Given the description of an element on the screen output the (x, y) to click on. 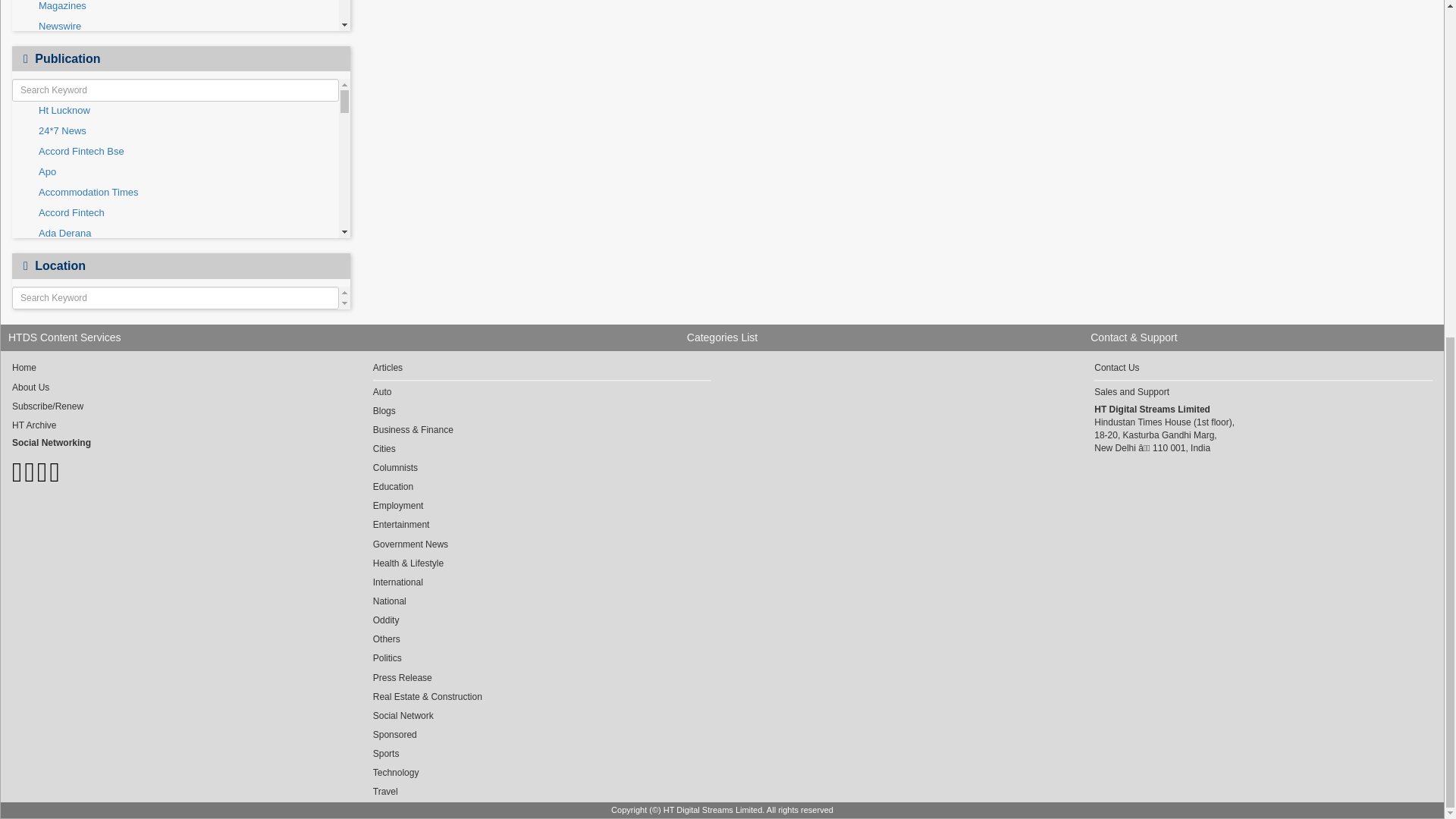
Sponsored (175, 44)
Press Release (175, 5)
